Given the description of an element on the screen output the (x, y) to click on. 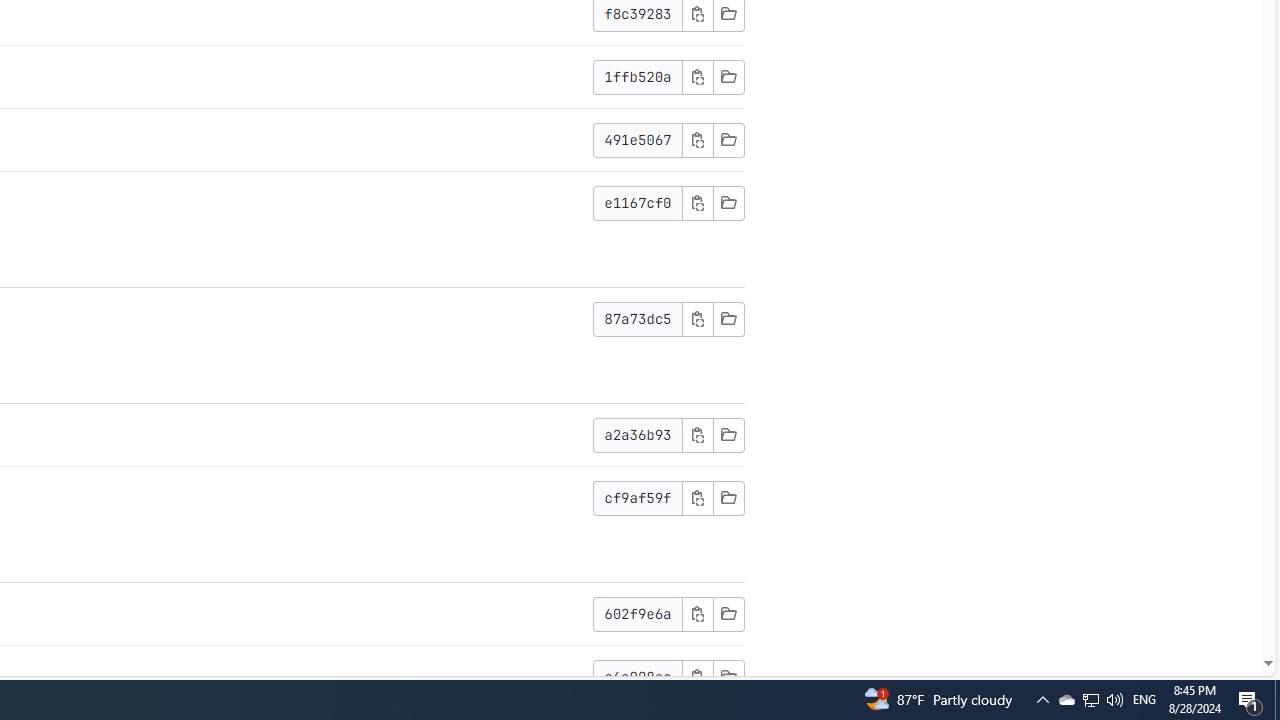
Browse Files (727, 676)
Class: s16 (728, 676)
Copy commit SHA (697, 676)
Class: s16 gl-icon gl-button-icon  (697, 676)
